Given the description of an element on the screen output the (x, y) to click on. 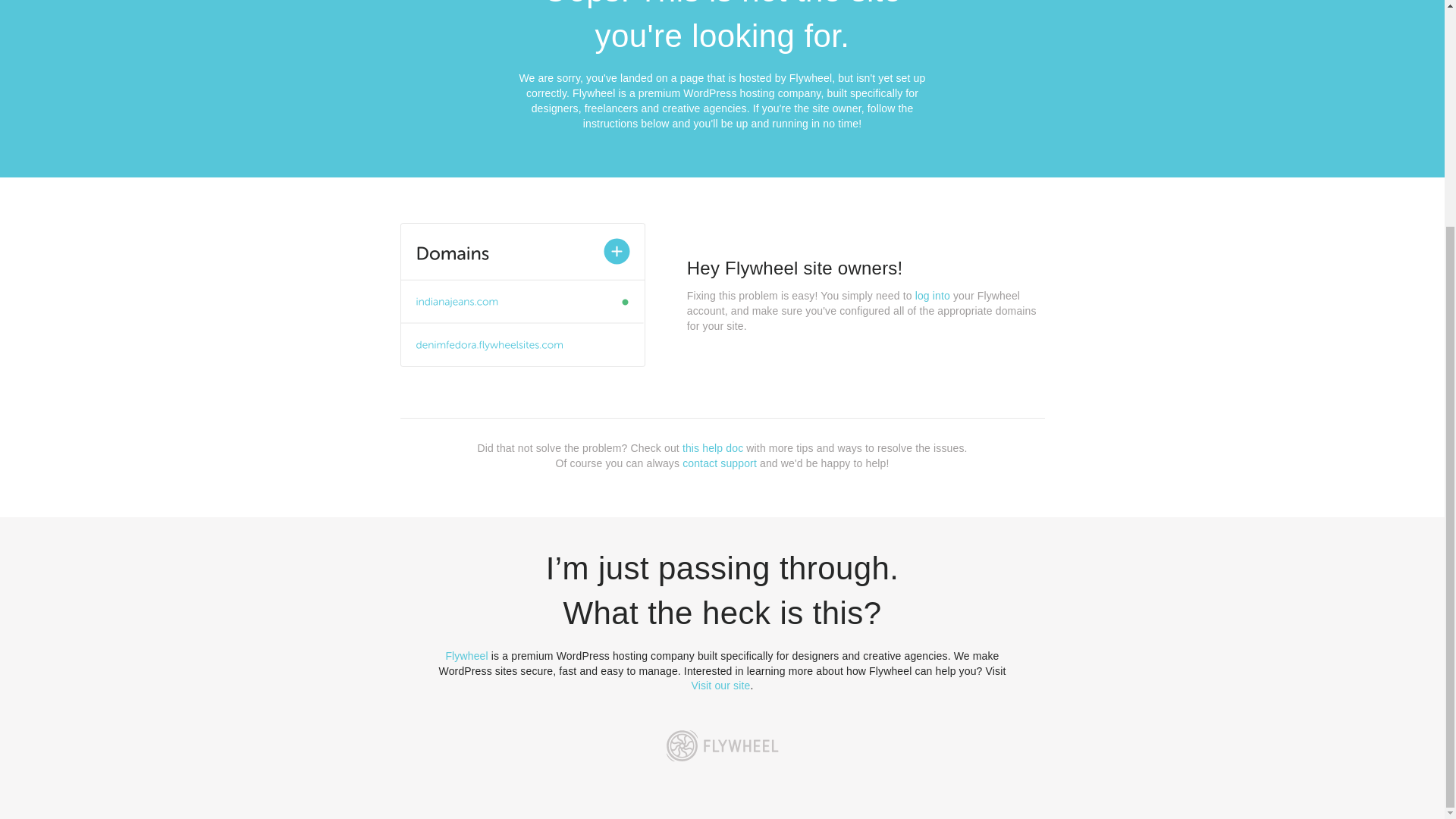
Visit our site (721, 685)
contact support (719, 463)
log into (932, 295)
Flywheel (466, 655)
this help doc (712, 448)
